Given the description of an element on the screen output the (x, y) to click on. 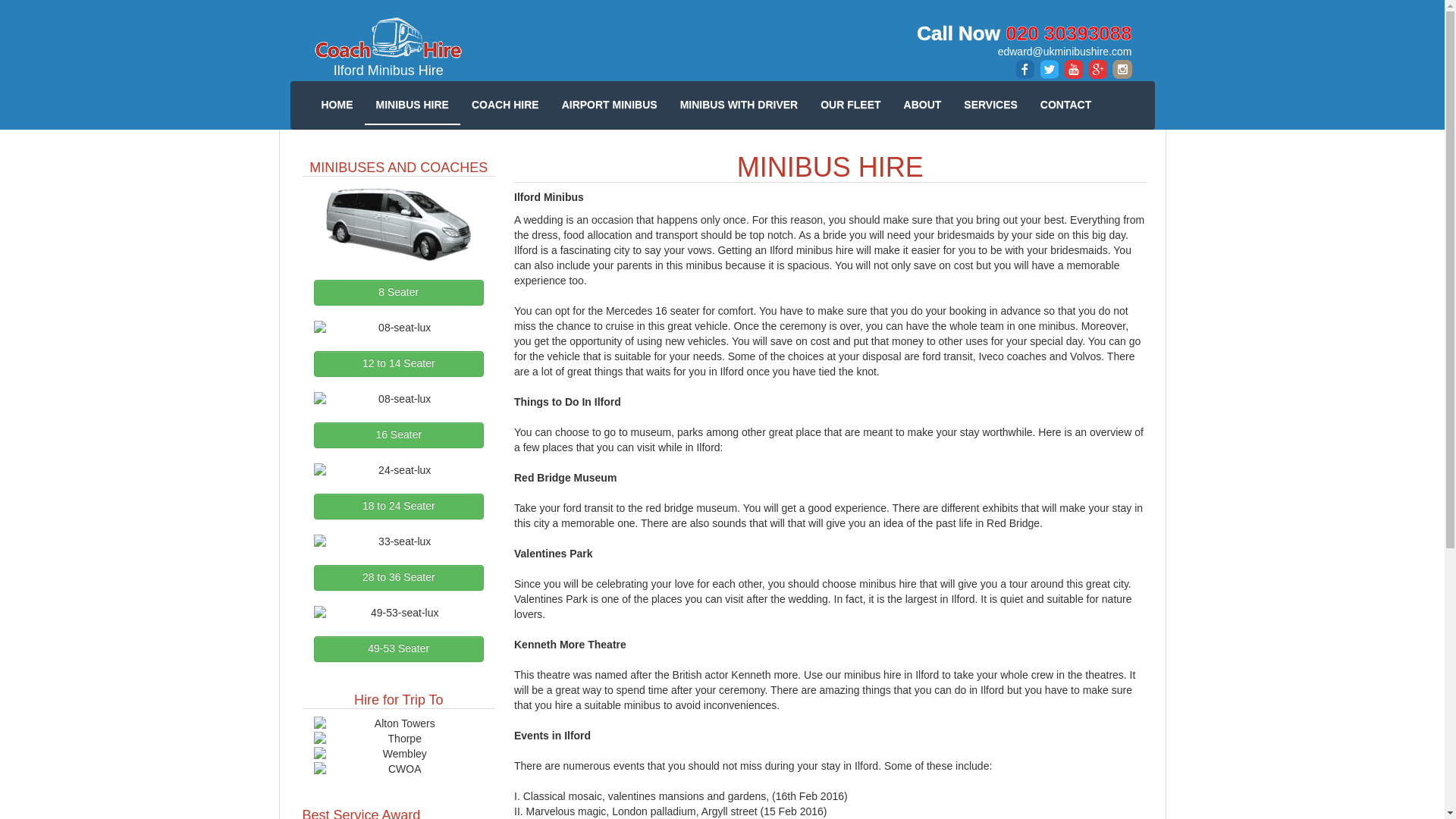
Ilford Minibus Hire (388, 48)
28 to 36 Seater (399, 577)
HOME (336, 104)
18 to 24 Seater (399, 506)
16 Seater (399, 434)
ABOUT (922, 104)
AIRPORT MINIBUS (609, 104)
Ilford Minibus Hire (388, 48)
COACH HIRE (505, 104)
OUR FLEET (850, 104)
